Given the description of an element on the screen output the (x, y) to click on. 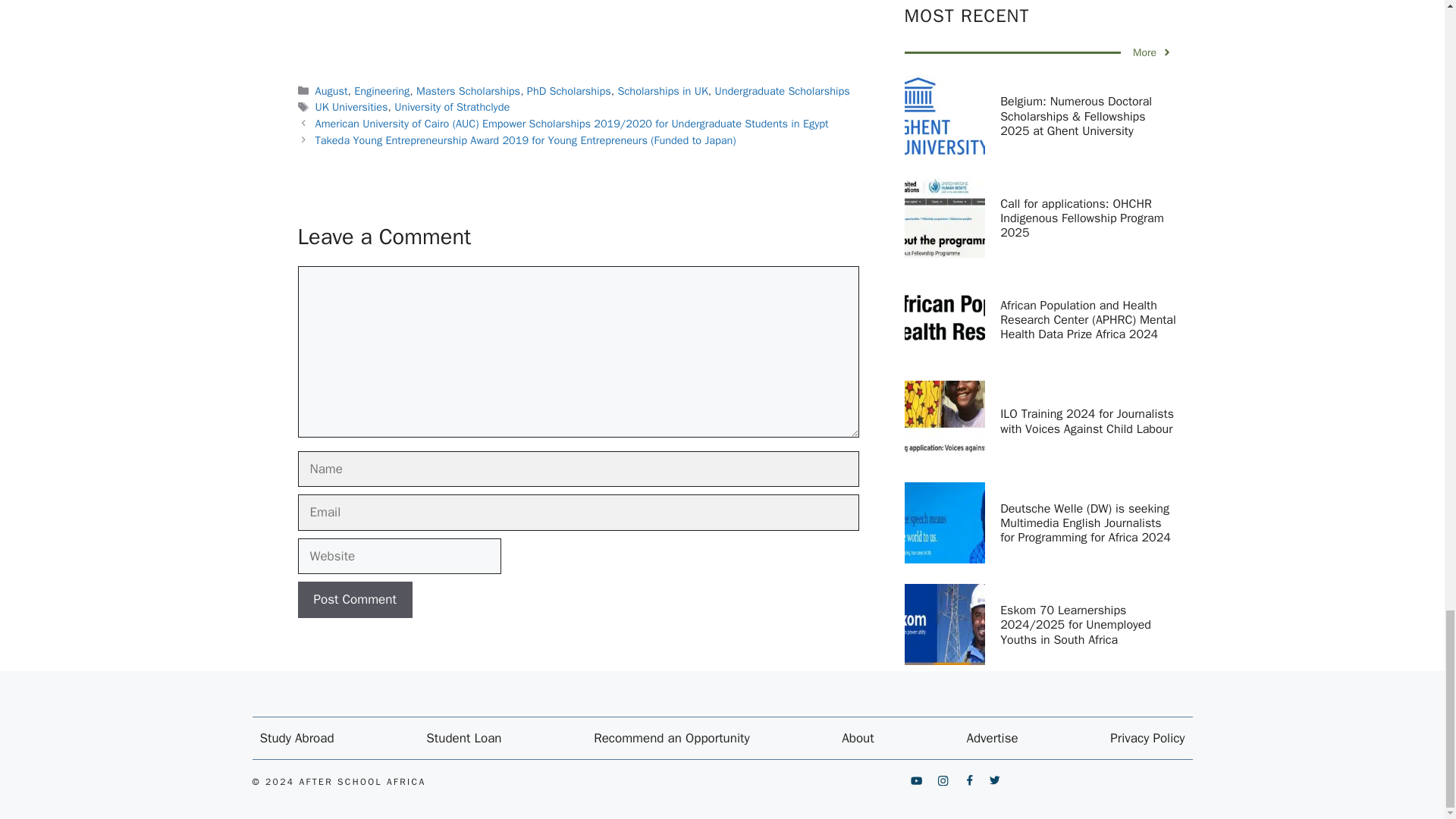
Post Comment (354, 599)
